Given the description of an element on the screen output the (x, y) to click on. 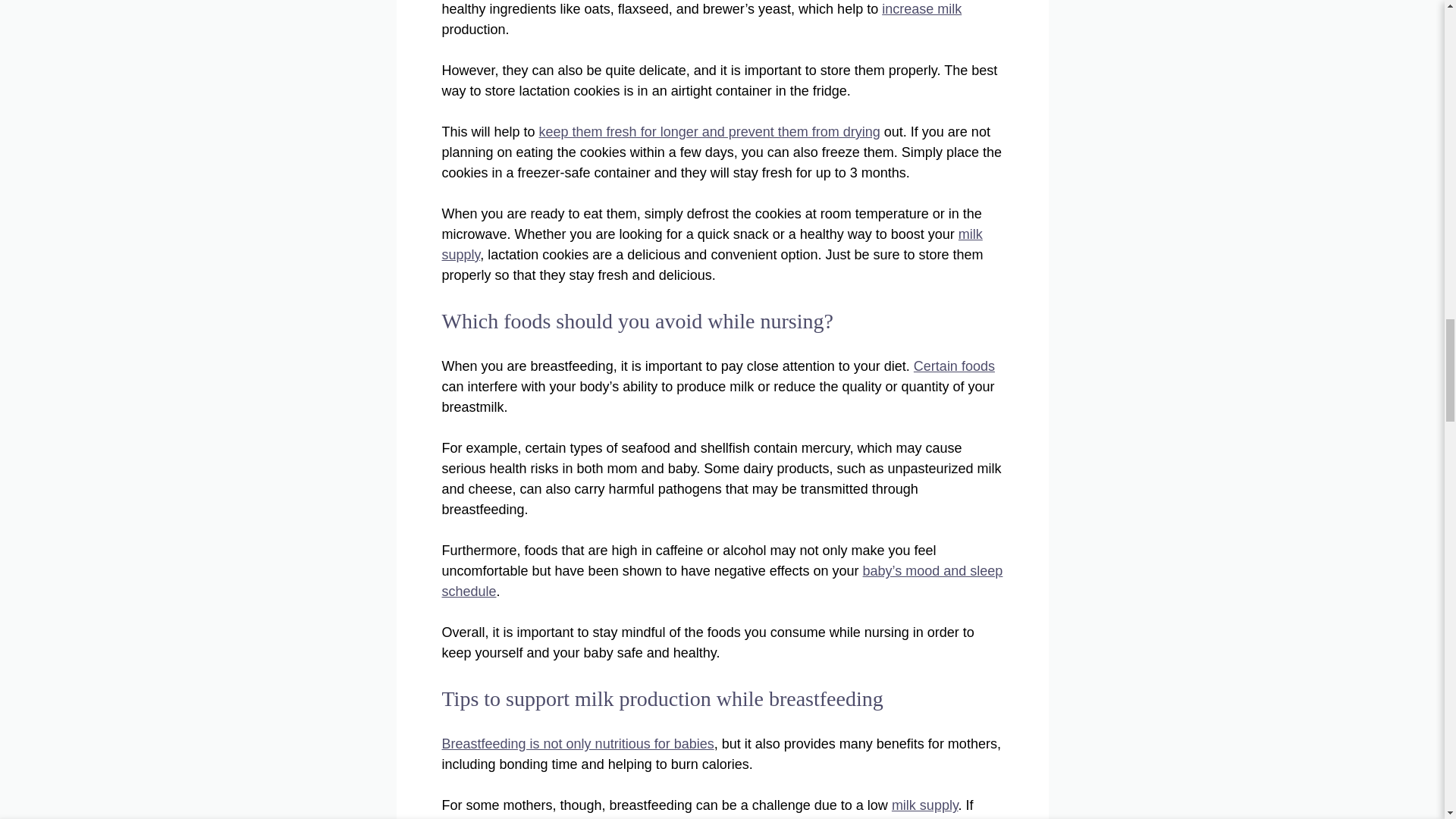
Certain foods (954, 365)
Breastfeeding is not only nutritious for babies (577, 743)
milk supply (924, 805)
increase milk (921, 8)
keep them fresh for longer and prevent them from drying (709, 131)
milk supply (711, 244)
